Given the description of an element on the screen output the (x, y) to click on. 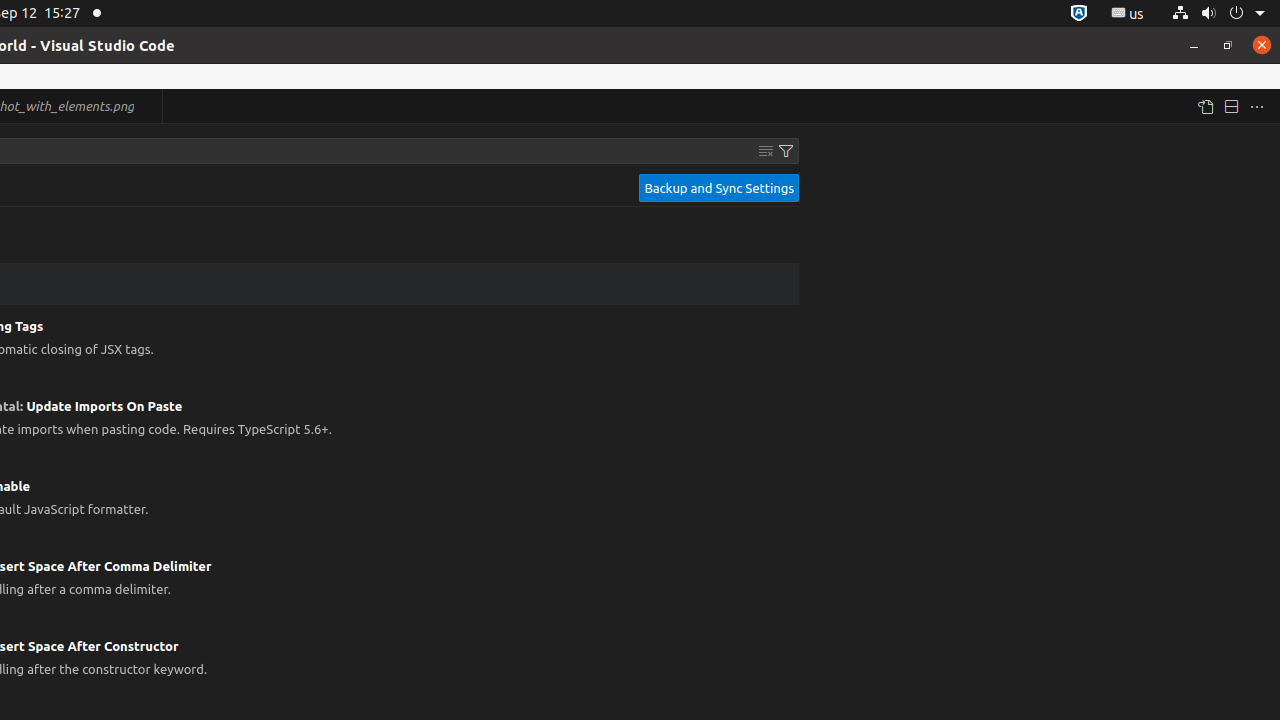
Open Settings (JSON) Element type: push-button (1205, 106)
Close (Ctrl+W) Element type: push-button (148, 106)
